Given the description of an element on the screen output the (x, y) to click on. 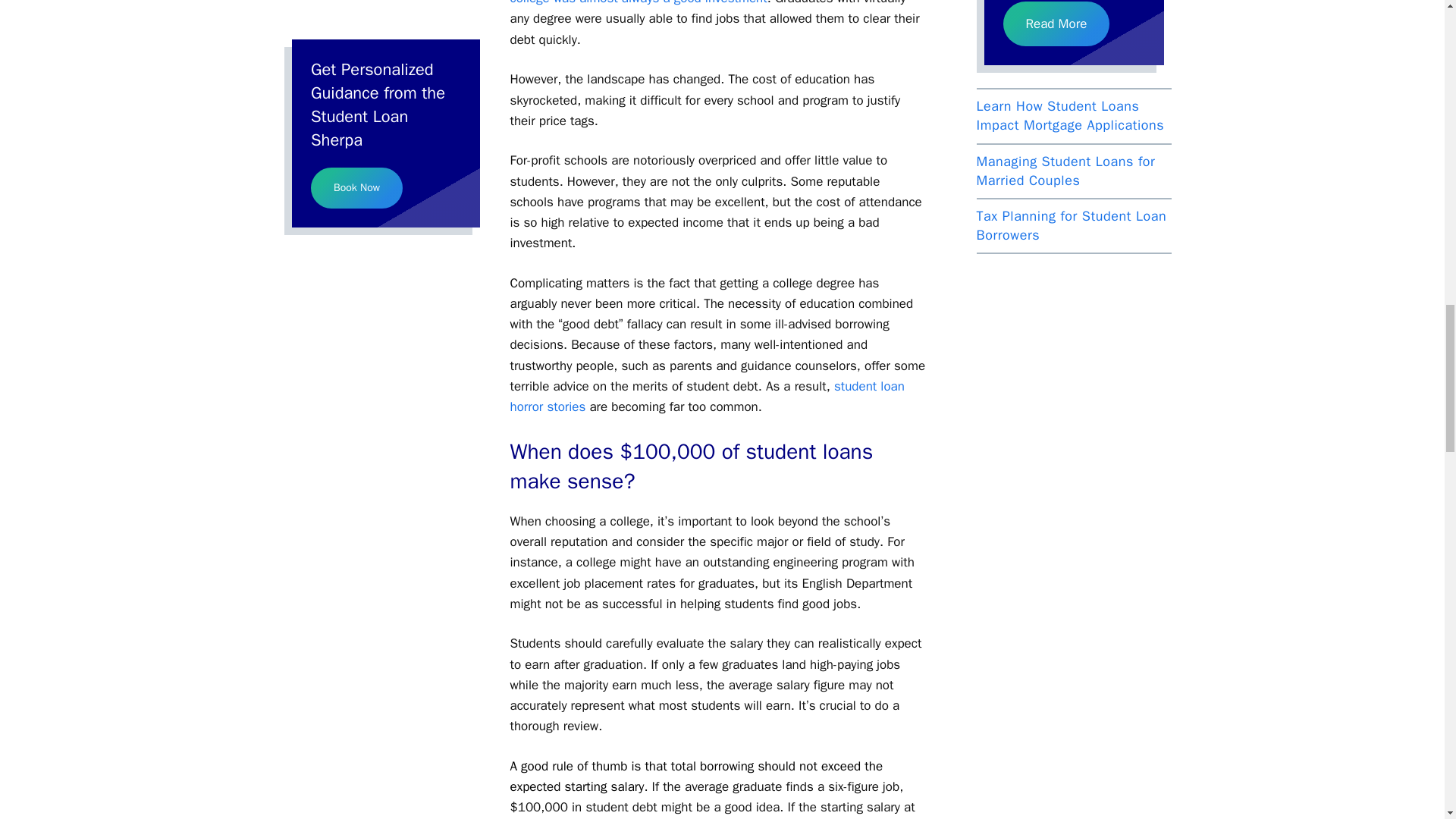
student loan horror stories (706, 396)
